Given the description of an element on the screen output the (x, y) to click on. 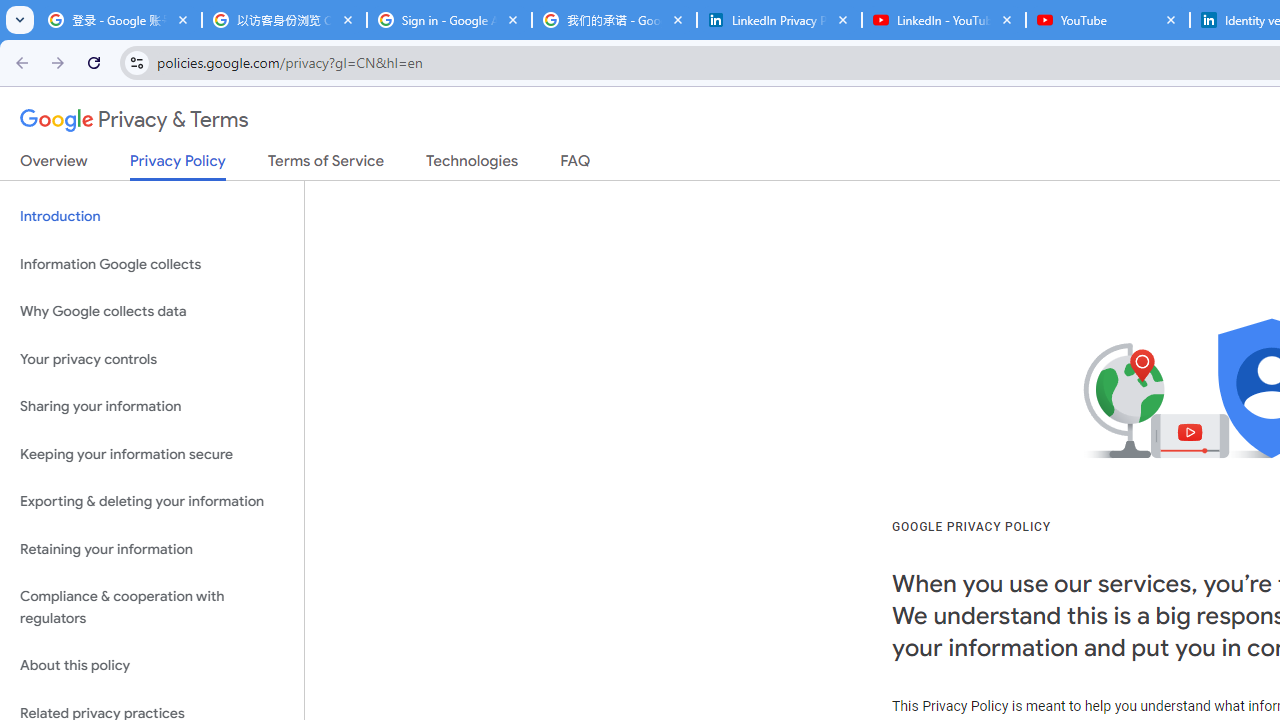
Why Google collects data (152, 312)
Information Google collects (152, 263)
YouTube (1108, 20)
Compliance & cooperation with regulators (152, 607)
Your privacy controls (152, 358)
LinkedIn Privacy Policy (779, 20)
